Given the description of an element on the screen output the (x, y) to click on. 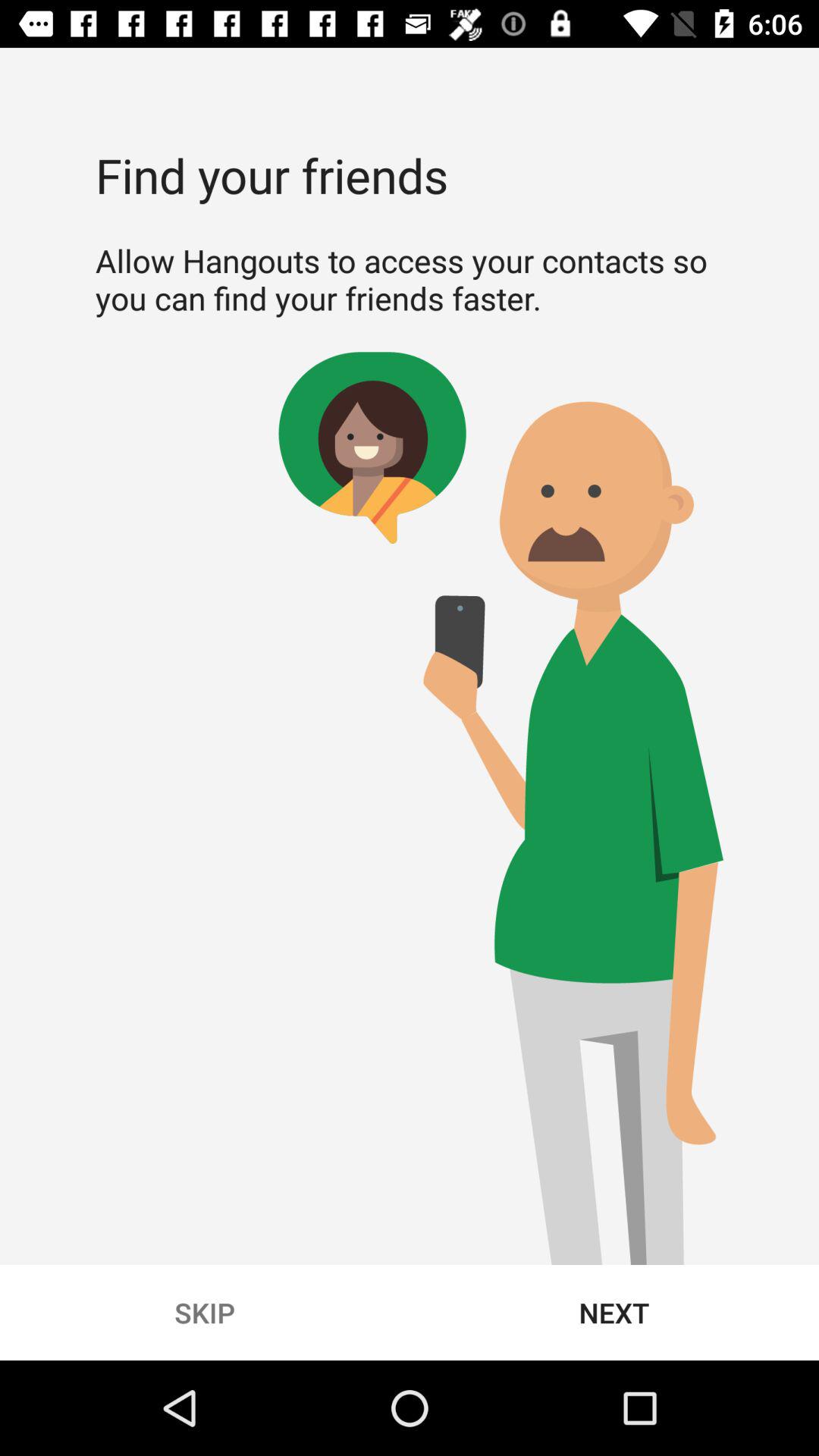
select the button to the right of the skip icon (614, 1312)
